Given the description of an element on the screen output the (x, y) to click on. 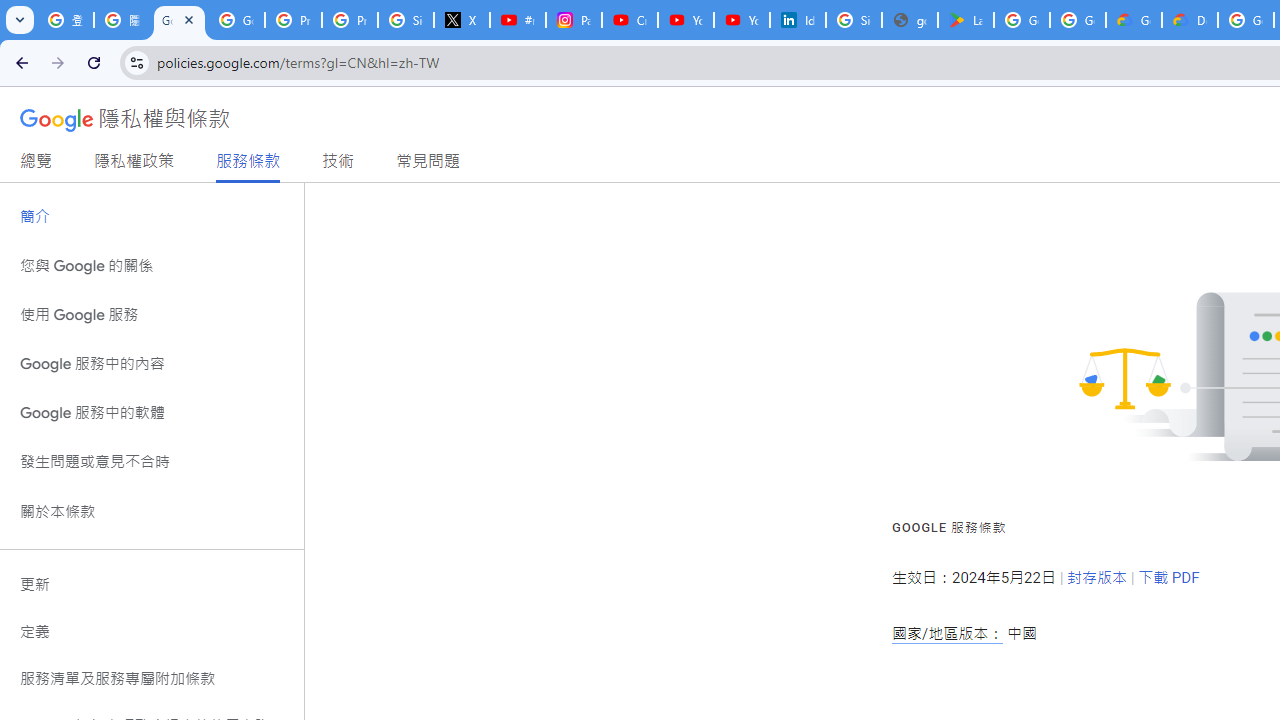
X (461, 20)
Sign in - Google Accounts (405, 20)
Identity verification via Persona | LinkedIn Help (797, 20)
Sign in - Google Accounts (853, 20)
